Given the description of an element on the screen output the (x, y) to click on. 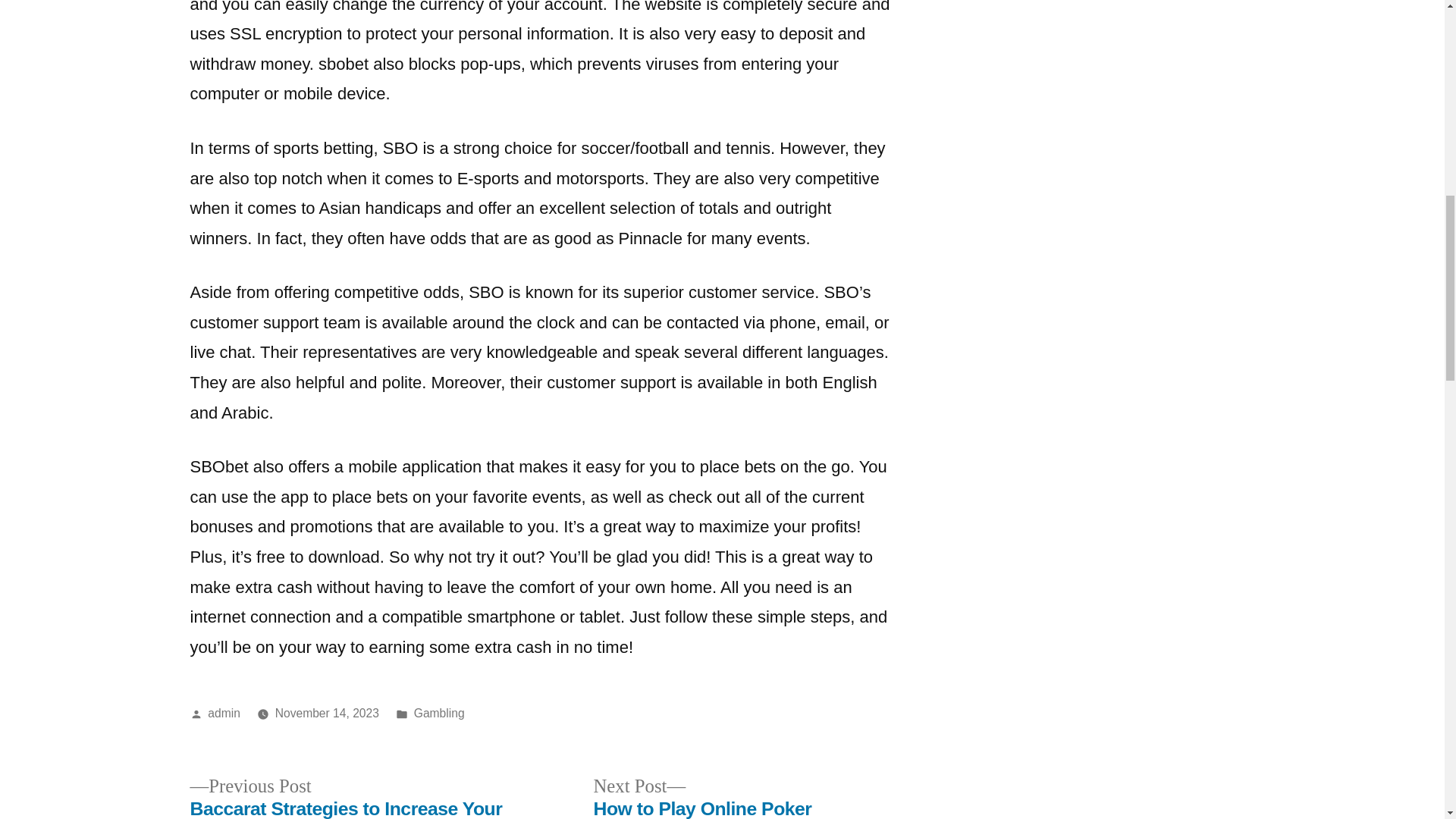
admin (224, 712)
November 14, 2023 (326, 712)
Gambling (438, 712)
